Given the description of an element on the screen output the (x, y) to click on. 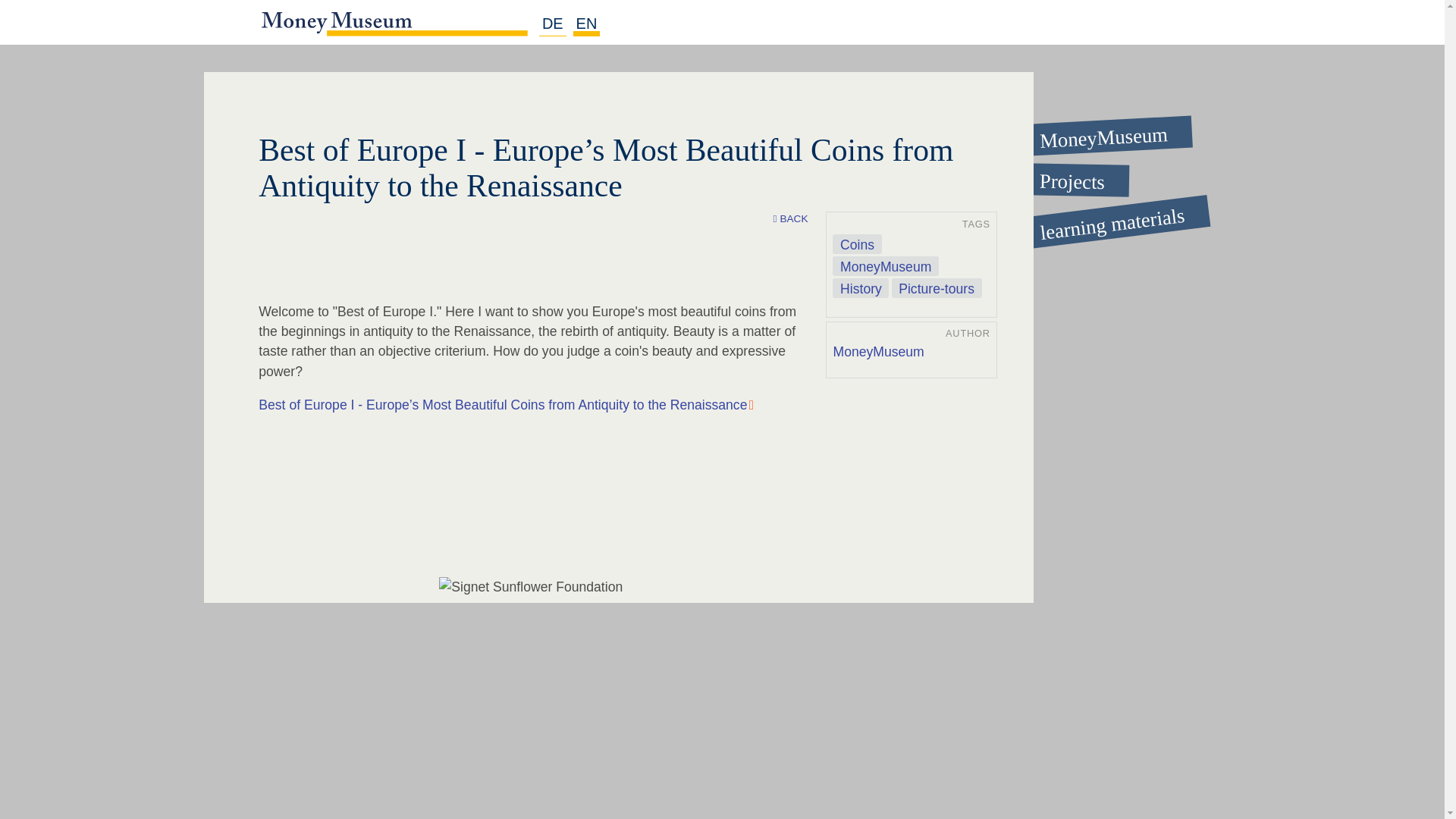
MoneyMuseum (877, 352)
DE (552, 24)
Projects (1097, 178)
Coins (856, 243)
Picture-tours (936, 288)
History (860, 288)
learning materials (1096, 211)
MoneyMuseum (884, 266)
BACK (790, 219)
EN (586, 24)
MoneyMuseum (1096, 130)
